Given the description of an element on the screen output the (x, y) to click on. 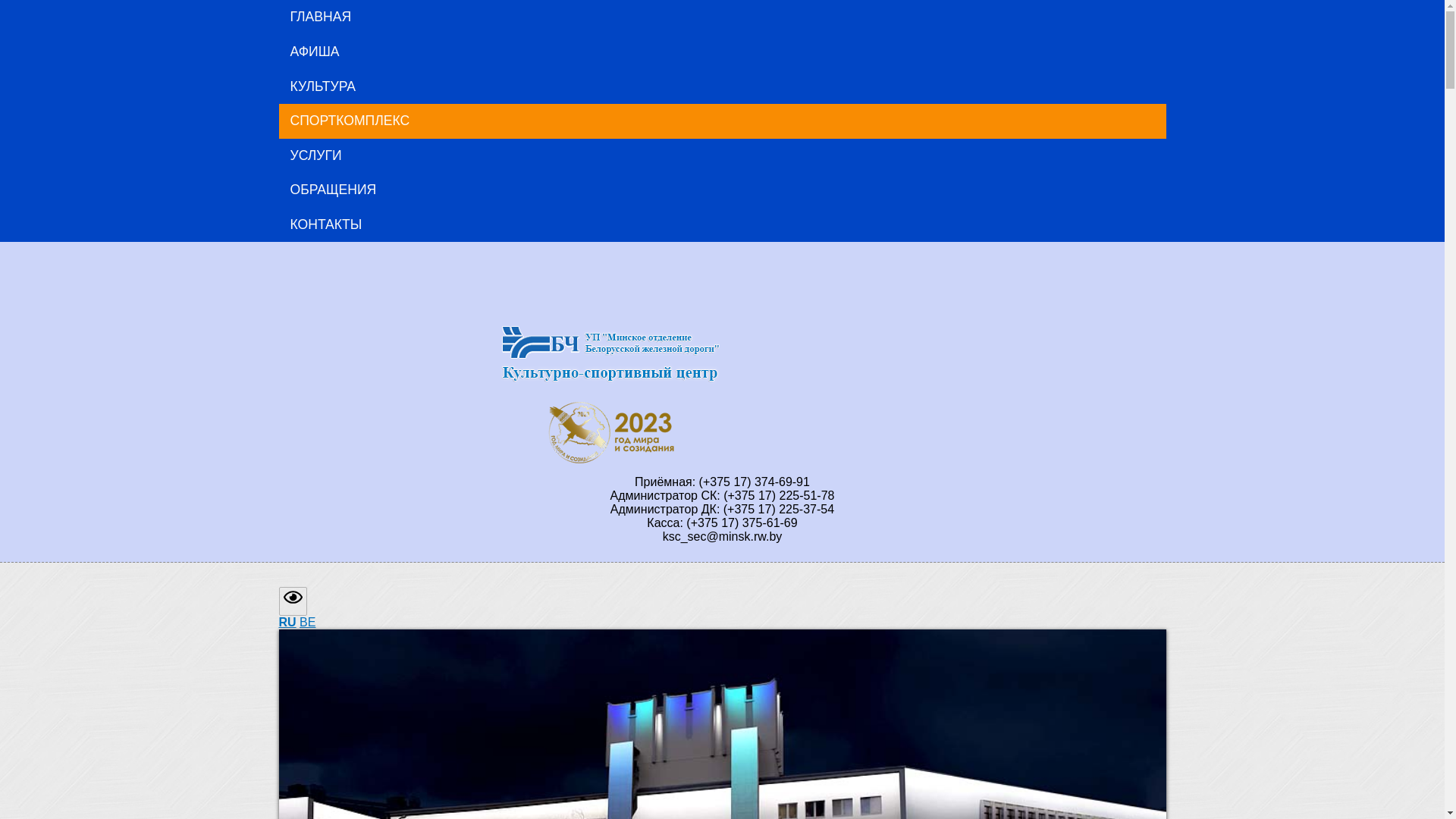
RU Element type: text (287, 621)
BE Element type: text (307, 621)
